Given the description of an element on the screen output the (x, y) to click on. 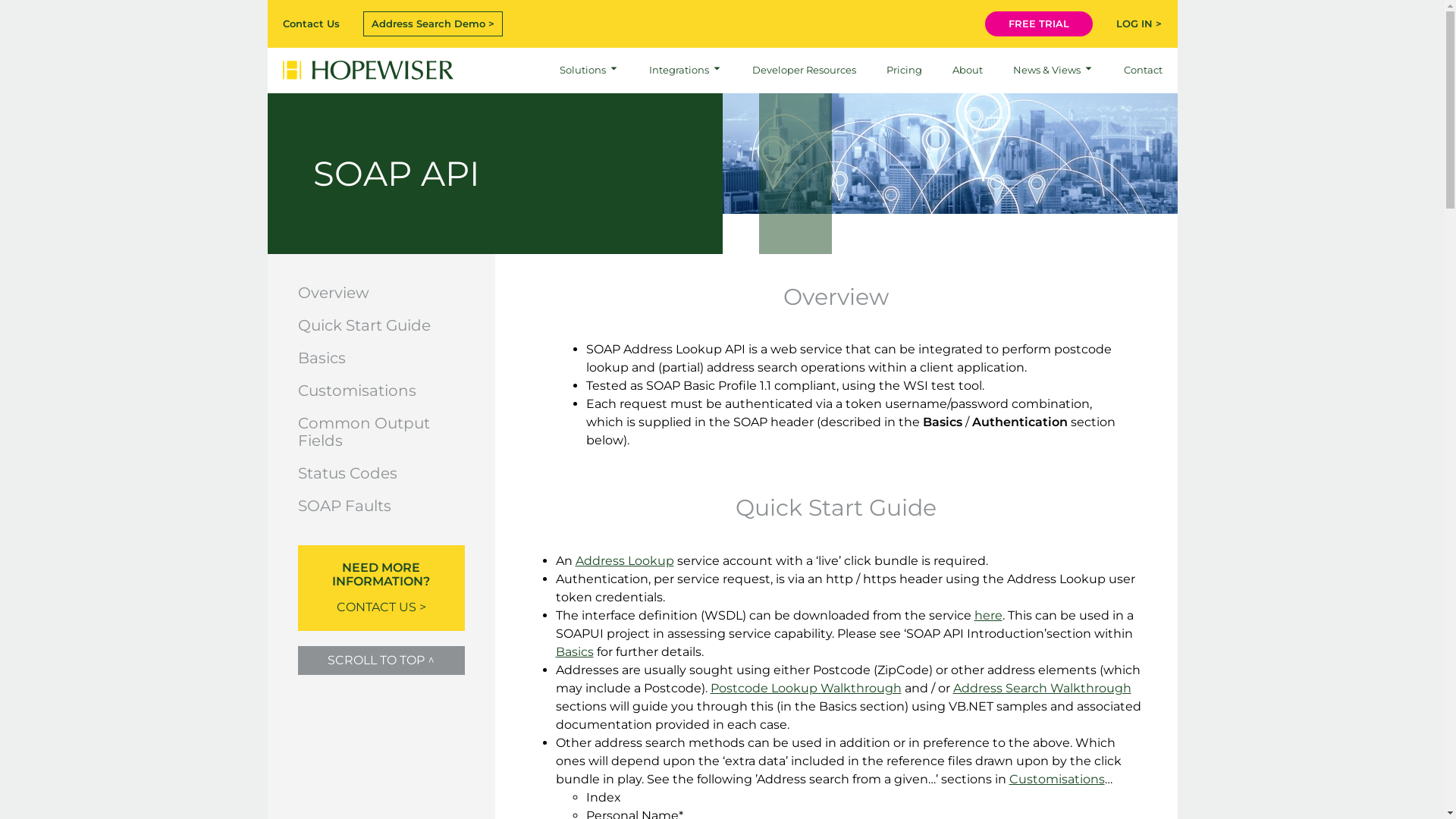
Contact Element type: text (1142, 70)
Pricing Element type: text (904, 70)
Status Codes Element type: text (346, 473)
Solutions Element type: text (588, 70)
here Element type: text (987, 615)
Integrations Element type: text (685, 70)
NEED MORE INFORMATION?
CONTACT US > Element type: text (380, 587)
Go to Hopewiser homepage Element type: hover (367, 69)
Basics Element type: text (321, 357)
Customisations Element type: text (356, 390)
Postcode Lookup Walkthrough Element type: text (804, 687)
FREE TRIAL Element type: text (1038, 23)
LOG IN > Element type: text (1138, 23)
Developer Resources Element type: text (804, 70)
Common Output Fields Element type: text (363, 431)
Contact Us Element type: text (311, 23)
SOAP Faults Element type: text (343, 505)
Address Search Walkthrough Element type: text (1041, 687)
About Element type: text (967, 70)
Basics Element type: text (574, 651)
Quick Start Guide Element type: text (363, 325)
Customisations Element type: text (1056, 778)
News & Views Element type: text (1053, 70)
Overview Element type: text (332, 292)
SCROLL TO TOP ^ Element type: text (380, 660)
Address Search Demo > Element type: text (432, 23)
Address Lookup Element type: text (623, 560)
